Given the description of an element on the screen output the (x, y) to click on. 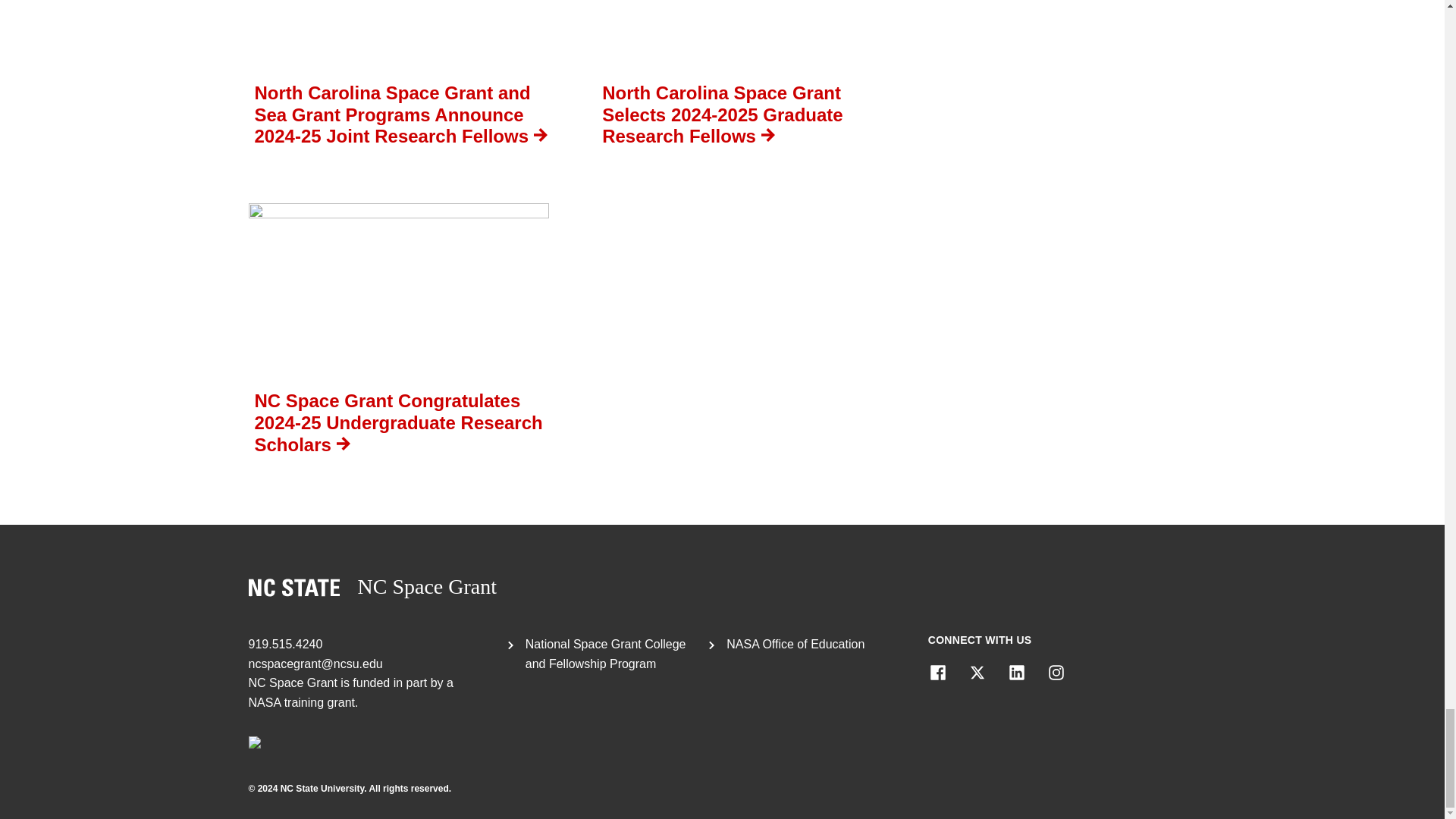
X (977, 672)
Facebook (937, 672)
LinkedIn (1016, 672)
Instagram (1055, 672)
